Given the description of an element on the screen output the (x, y) to click on. 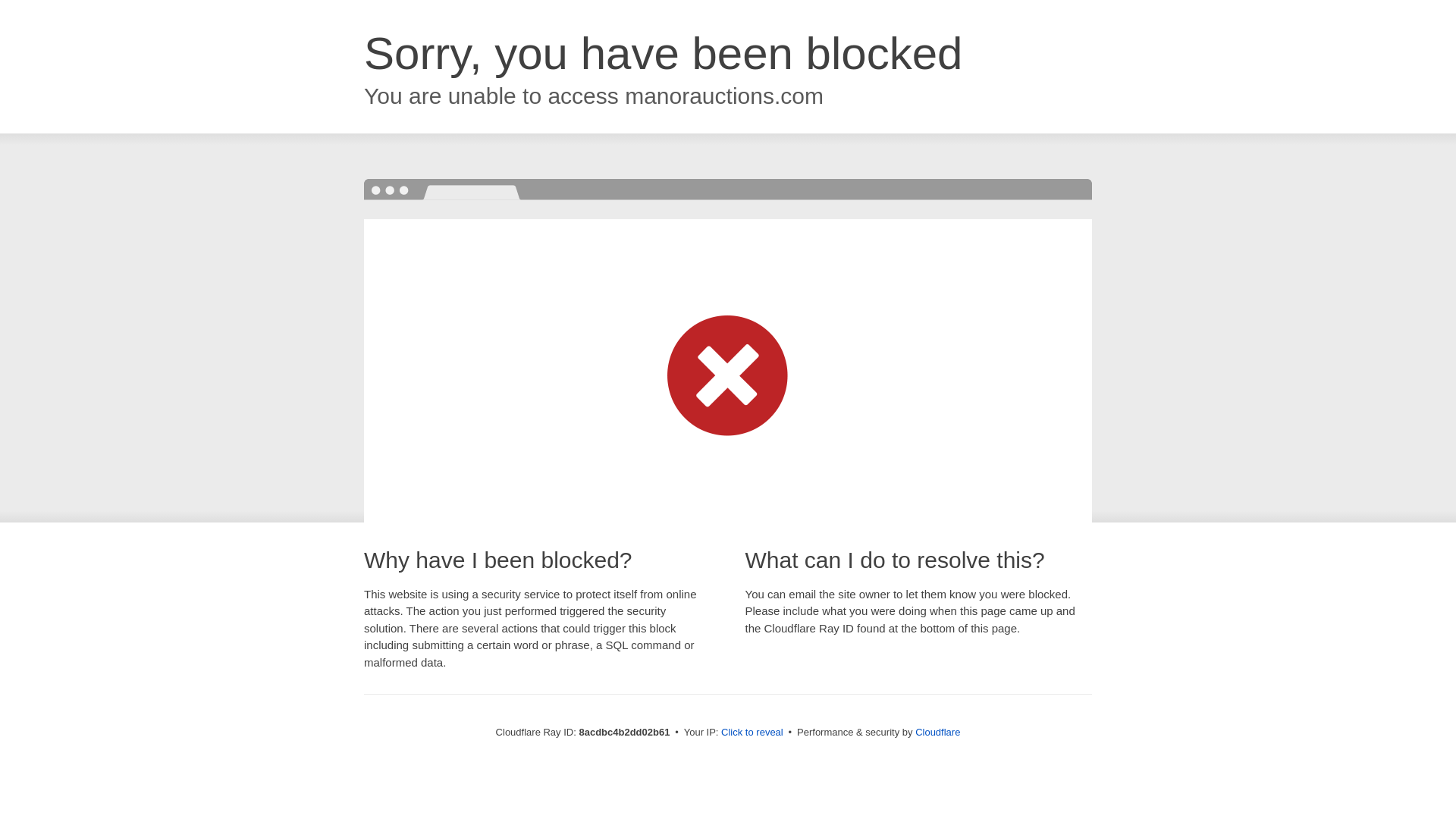
Cloudflare (937, 731)
Click to reveal (751, 732)
